Given the description of an element on the screen output the (x, y) to click on. 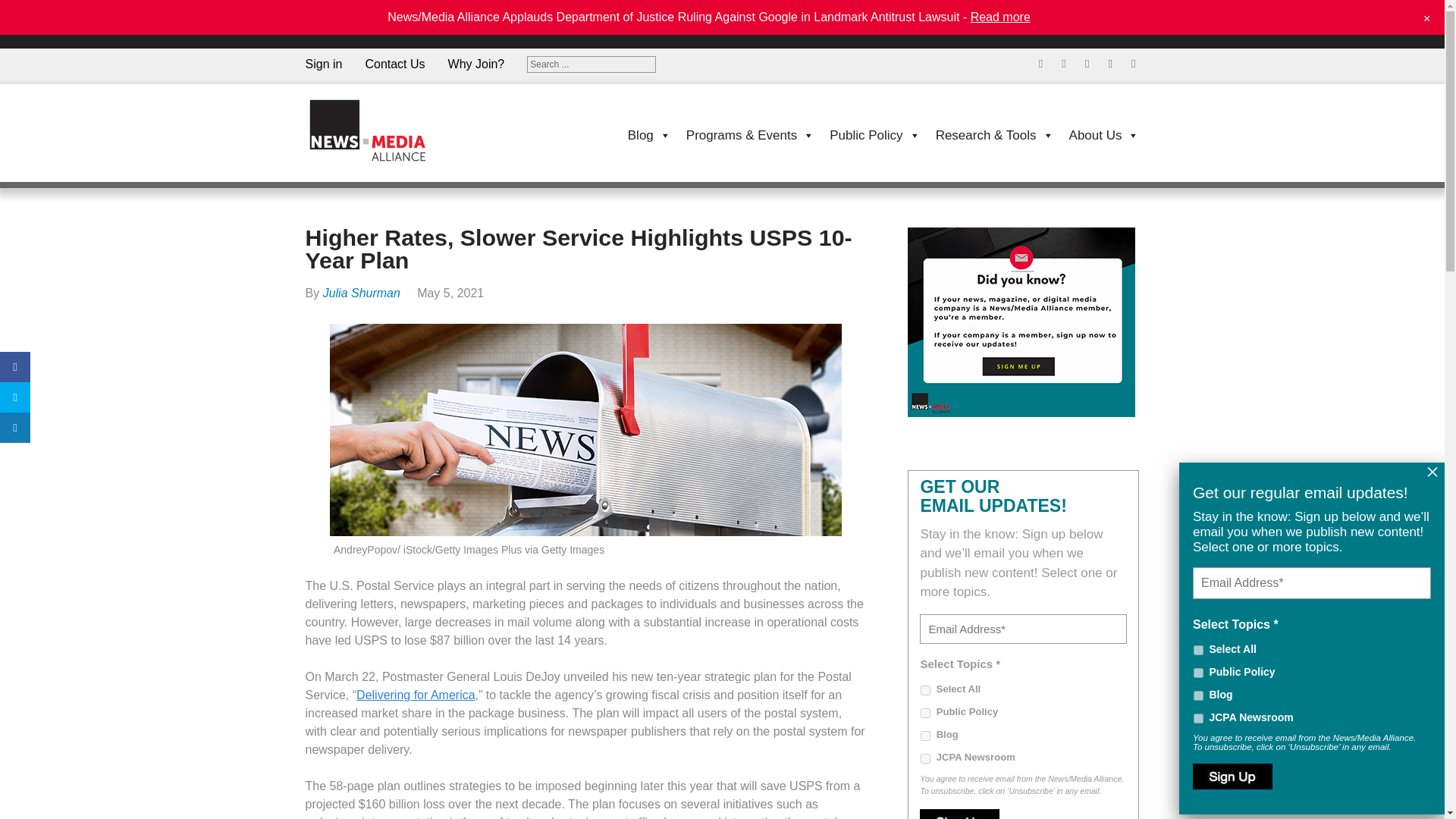
Public Policy (1198, 673)
on (925, 690)
JCPA Newsroom (1198, 718)
Why Join? (487, 63)
Public Policy (866, 134)
Blog (641, 134)
Public Policy (925, 713)
Search ... (591, 64)
Blog (1198, 696)
Julia Shurman (361, 292)
